Given the description of an element on the screen output the (x, y) to click on. 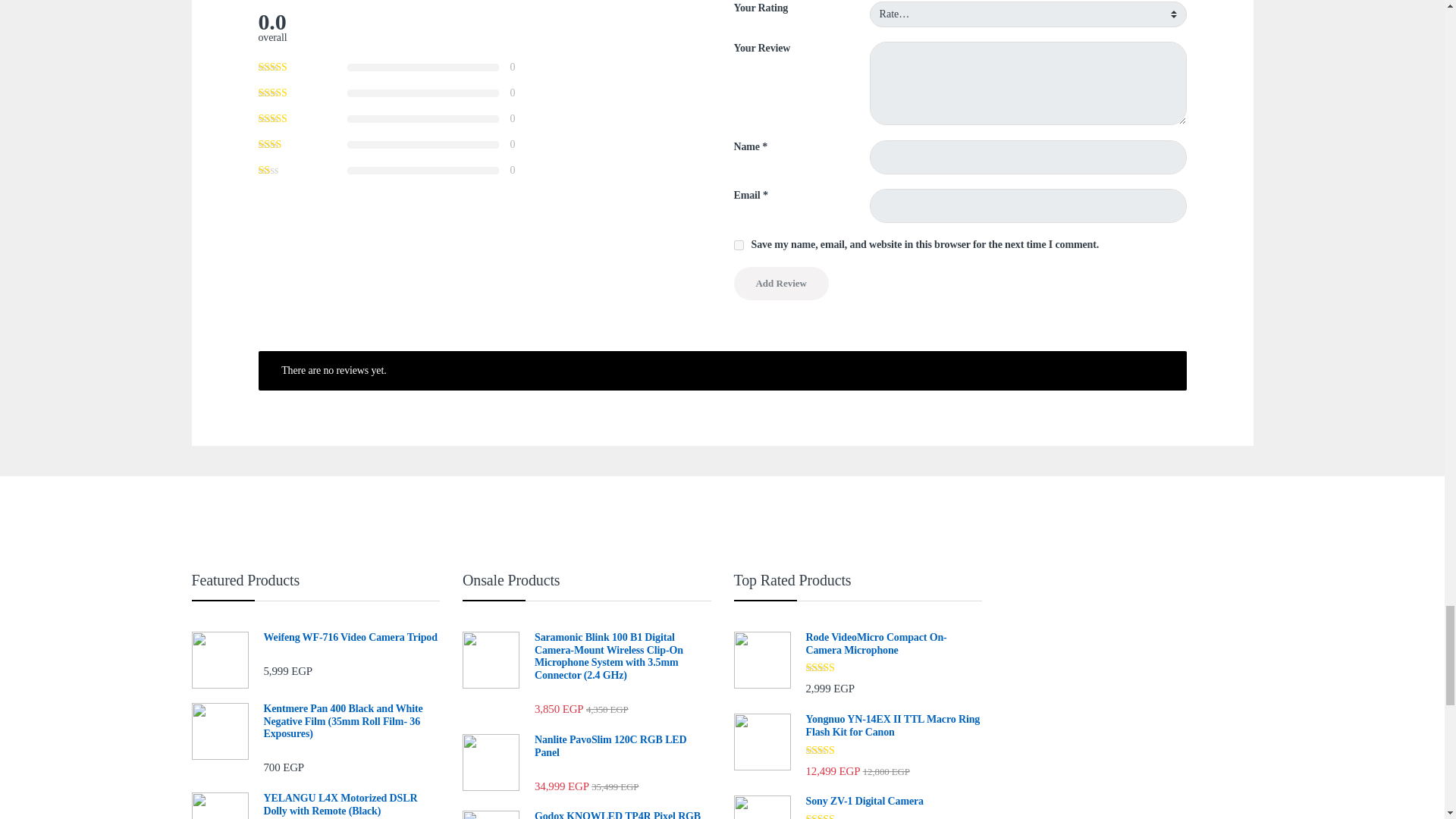
yes (738, 245)
Add Review (780, 283)
